Given the description of an element on the screen output the (x, y) to click on. 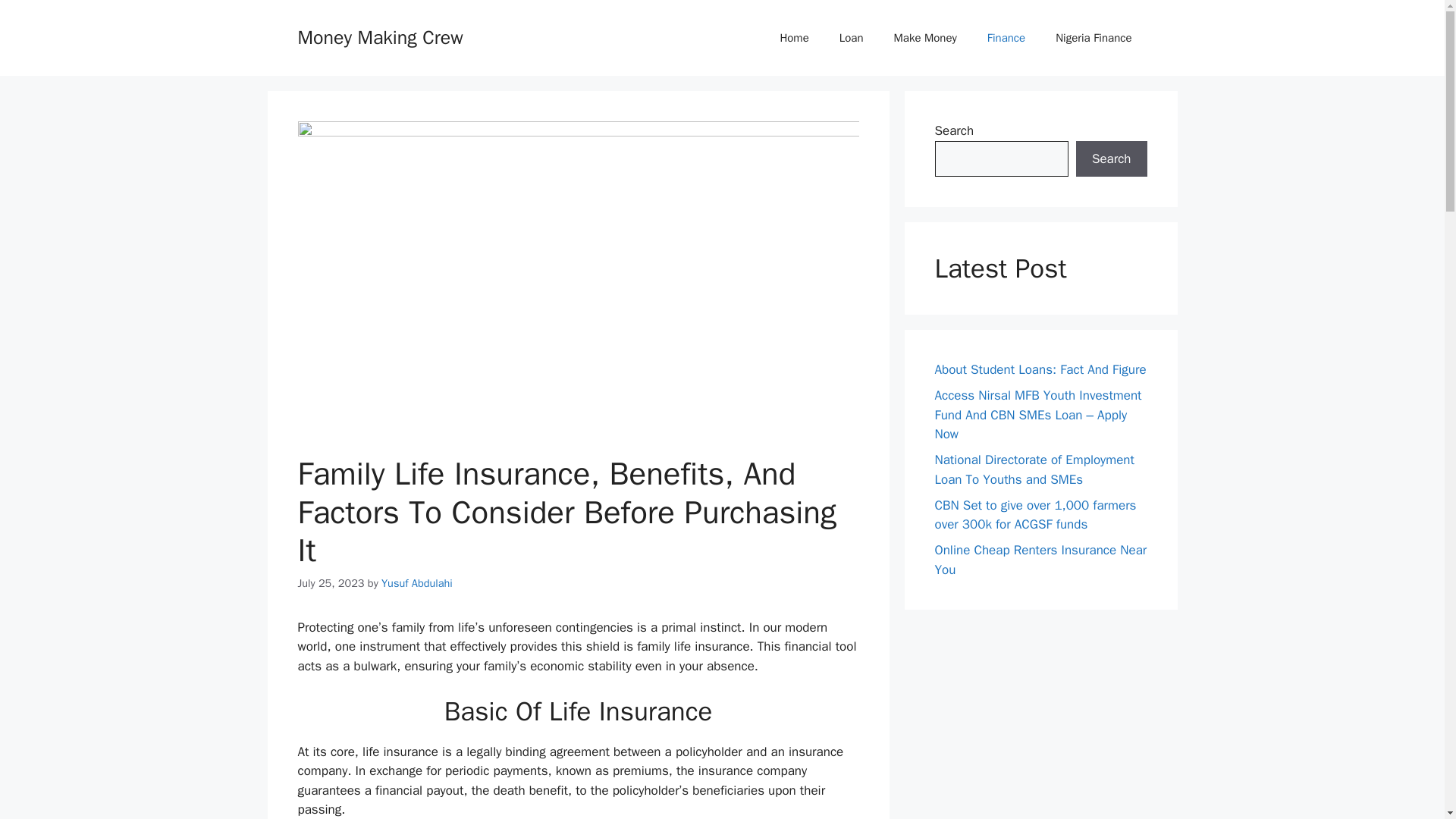
About Student Loans: Fact And Figure (1039, 369)
Nigeria Finance (1094, 37)
CBN Set to give over 1,000 farmers over 300k for ACGSF funds (1034, 515)
National Directorate of Employment Loan To Youths and SMEs (1034, 469)
Make Money (925, 37)
Money Making Crew (380, 37)
Loan (851, 37)
Search (1111, 158)
Finance (1006, 37)
Home (794, 37)
